Given the description of an element on the screen output the (x, y) to click on. 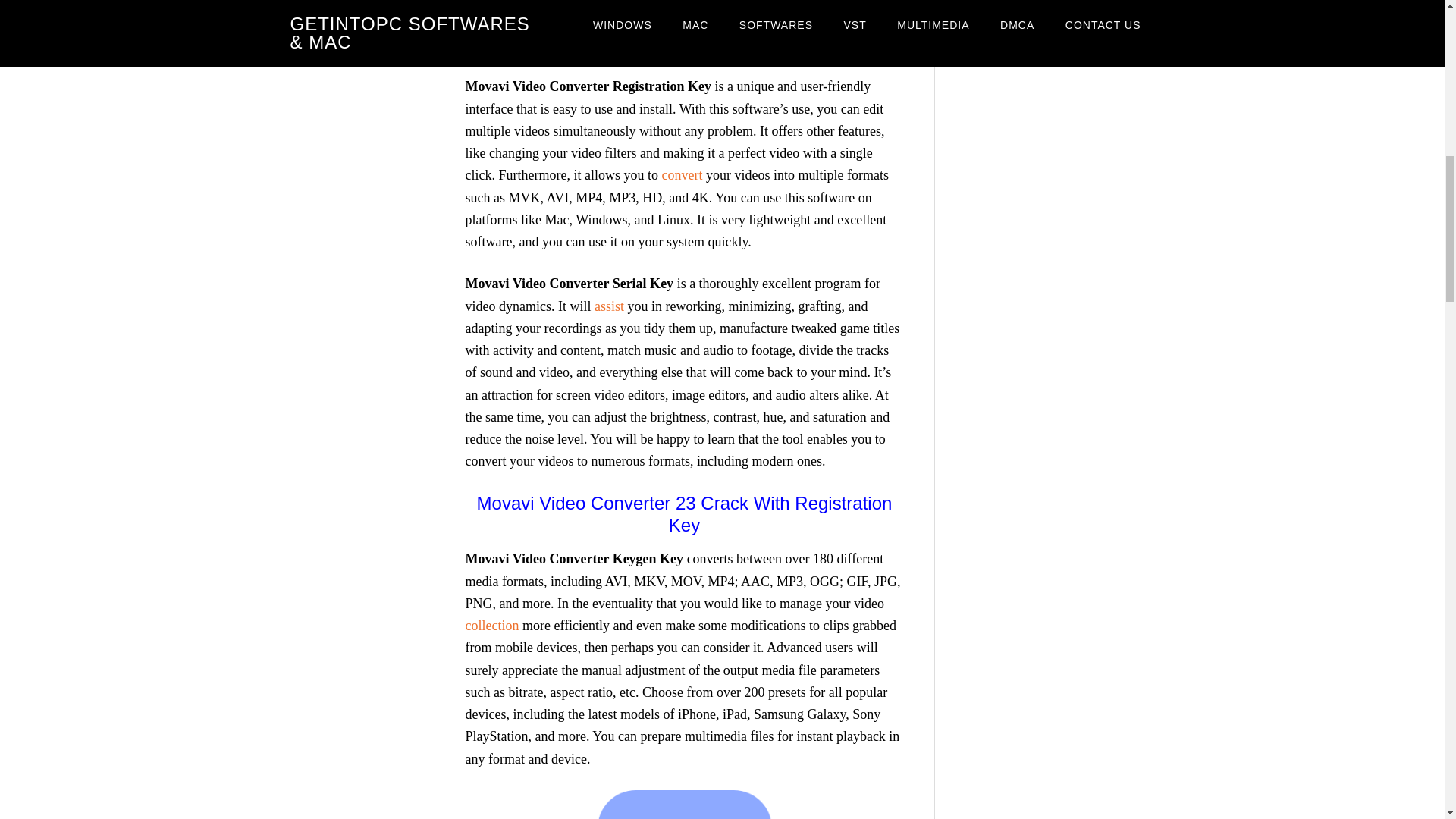
collection (492, 625)
assist (609, 305)
convert (681, 174)
